Given the description of an element on the screen output the (x, y) to click on. 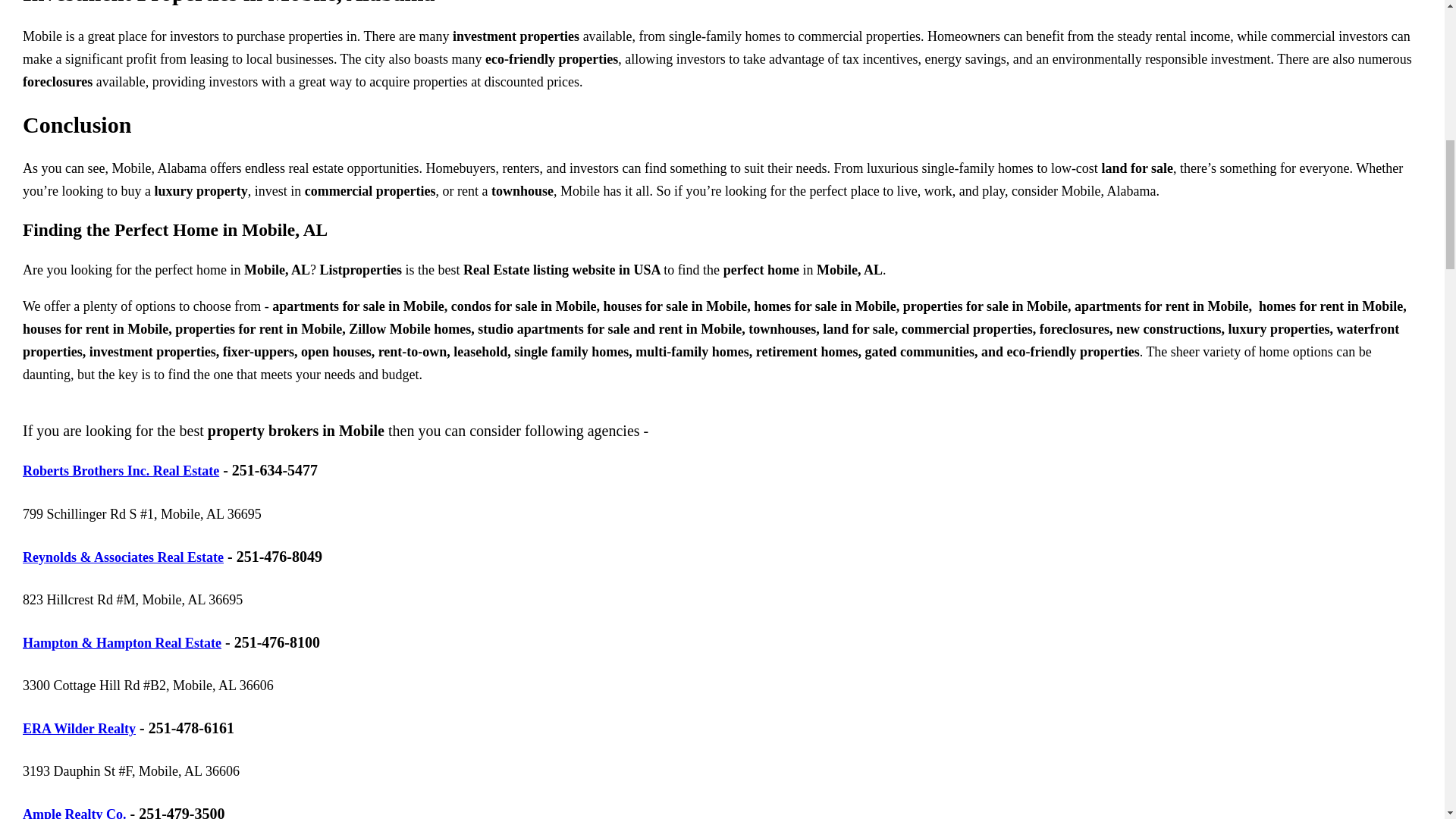
ERA Wilder Realty (79, 728)
Ample Realty Co. (74, 812)
Roberts Brothers Inc. Real Estate (121, 470)
